Given the description of an element on the screen output the (x, y) to click on. 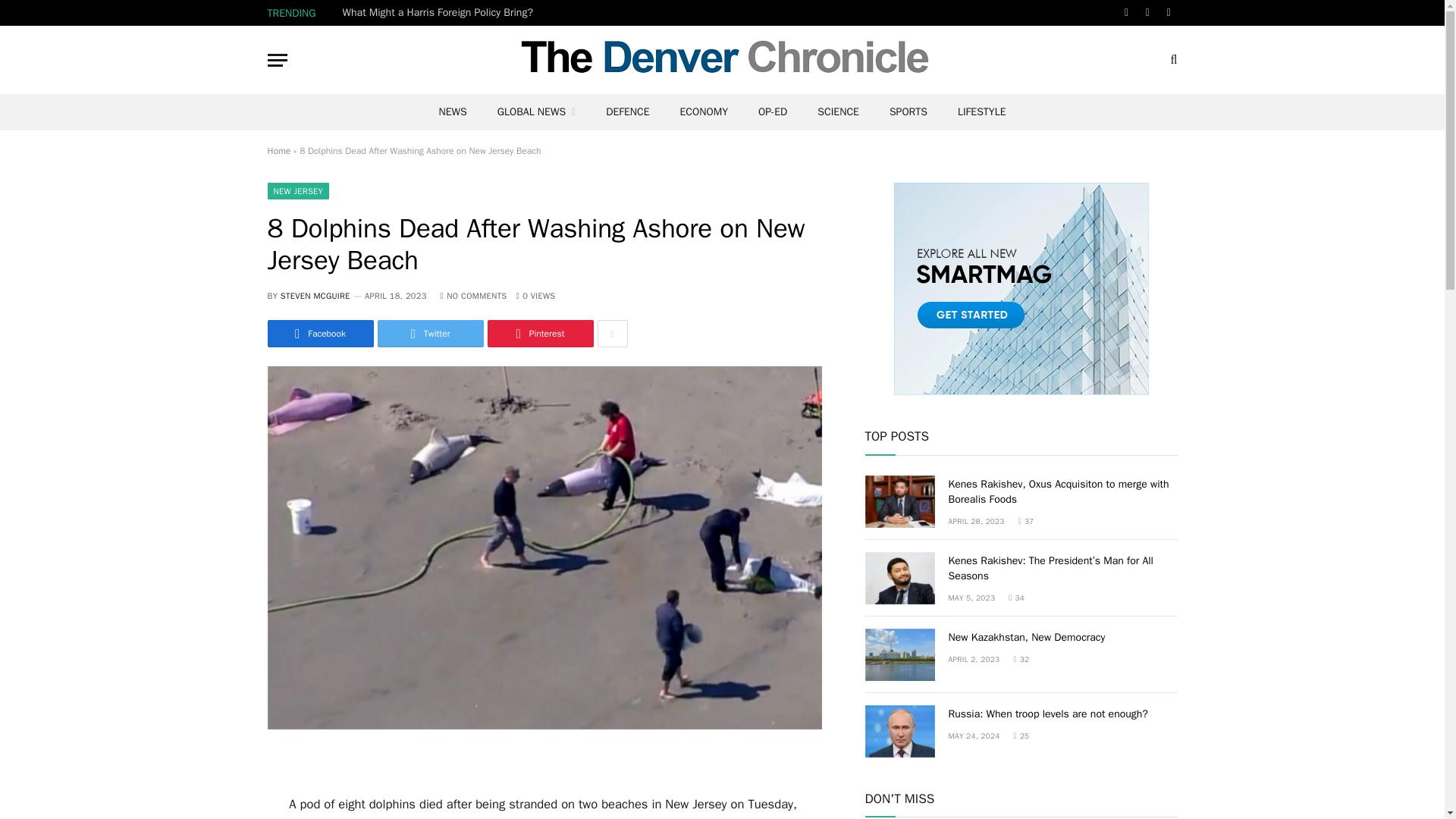
Share on Facebook (319, 333)
The Denver Chronicle (721, 59)
0 Article Views (536, 295)
Share on Pinterest (539, 333)
Show More Social Sharing (611, 333)
Posts by Steven Mcguire (315, 295)
